Given the description of an element on the screen output the (x, y) to click on. 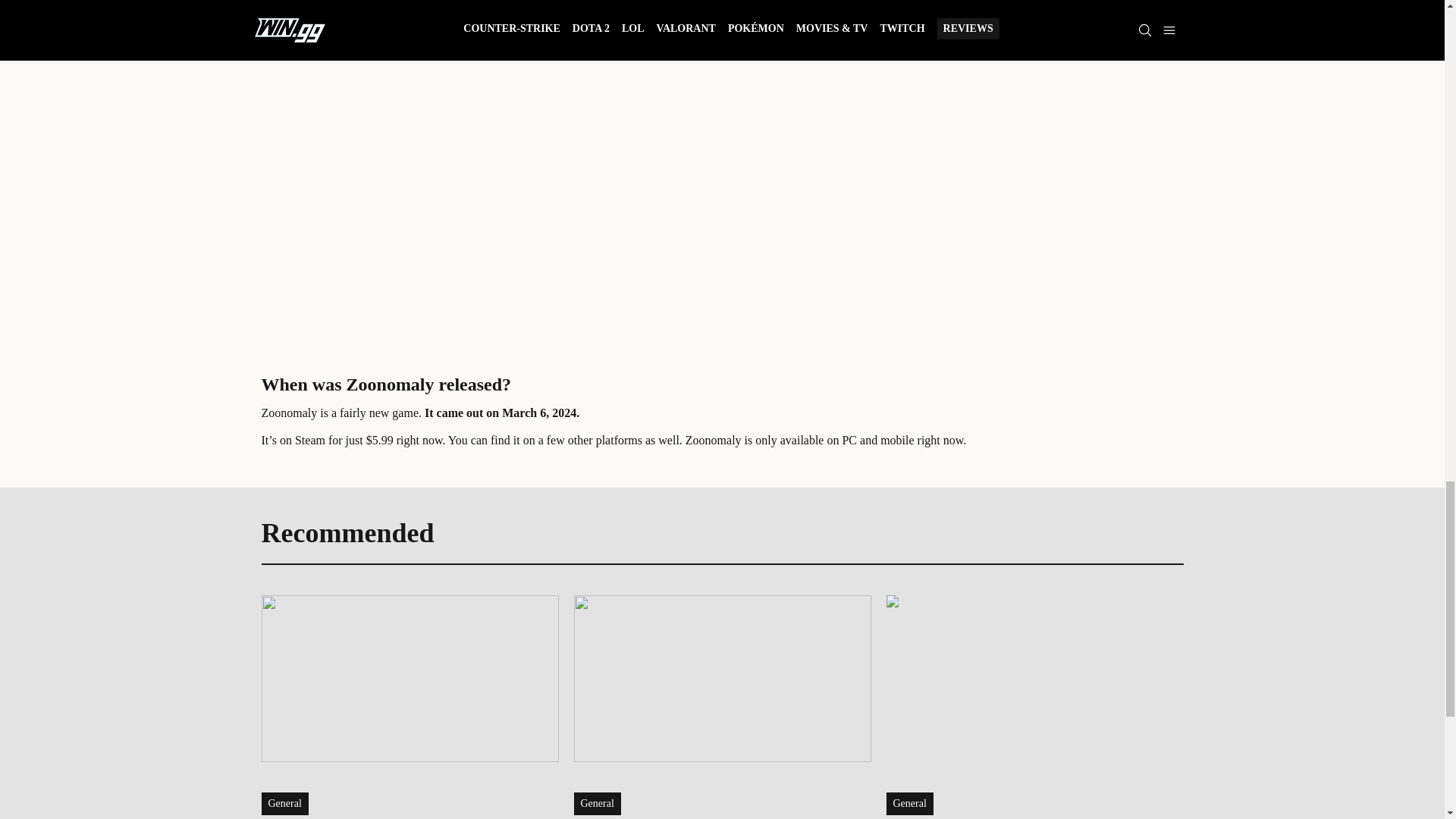
Steam (309, 440)
General (596, 803)
General (283, 803)
